Given the description of an element on the screen output the (x, y) to click on. 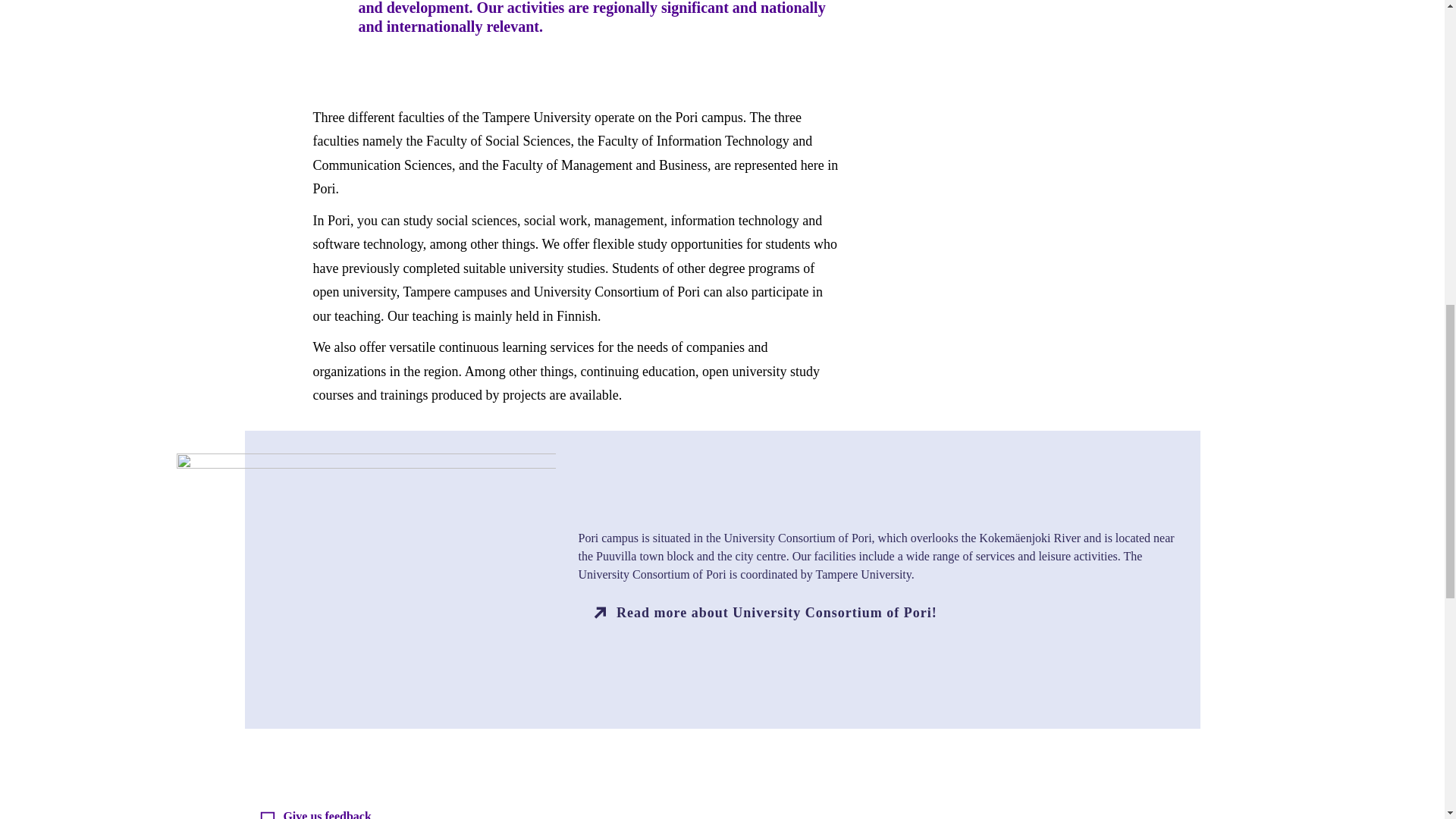
Read more about University Consortium of Pori! (877, 612)
